Given the description of an element on the screen output the (x, y) to click on. 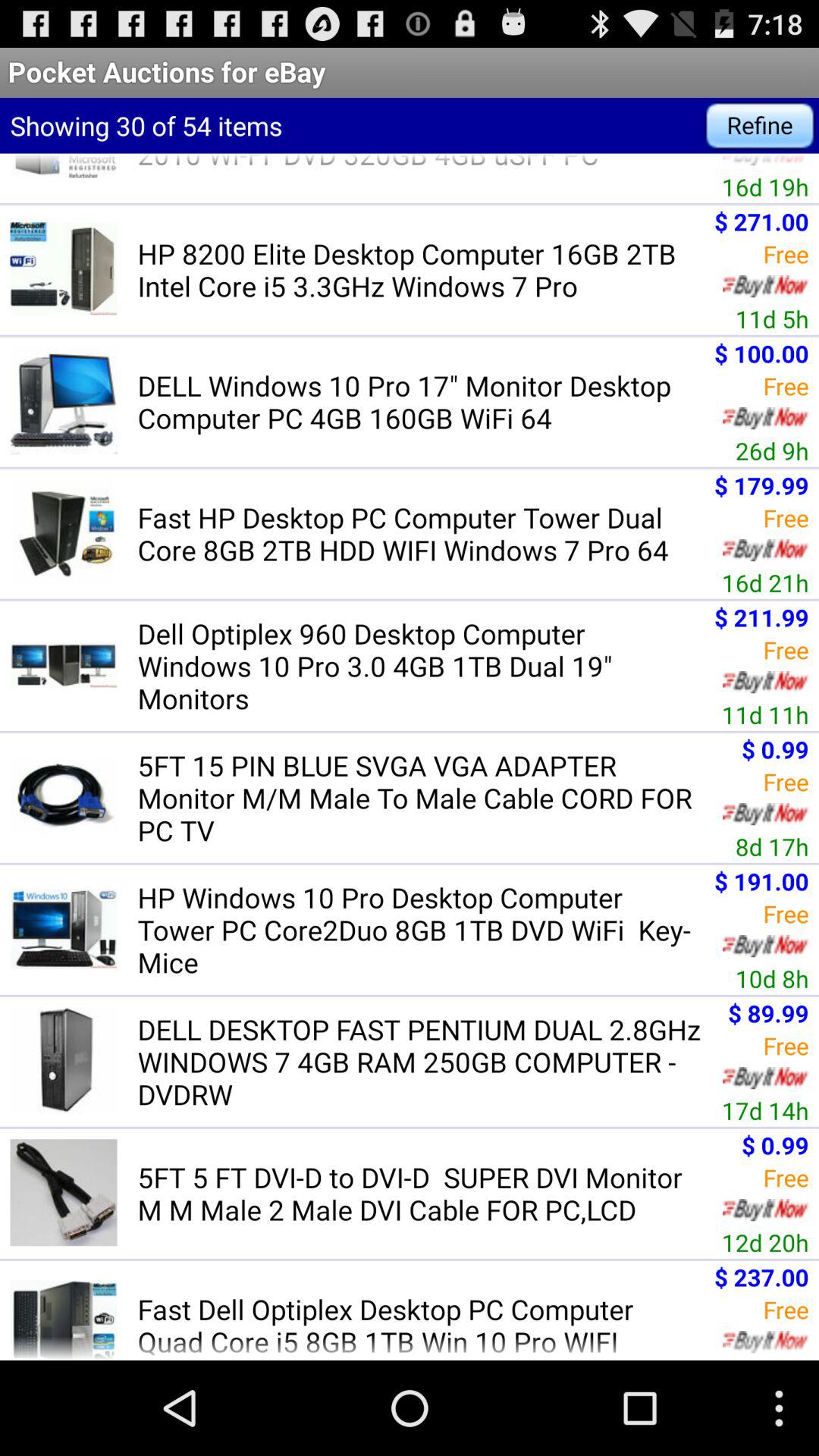
choose 26d 9h app (771, 450)
